Given the description of an element on the screen output the (x, y) to click on. 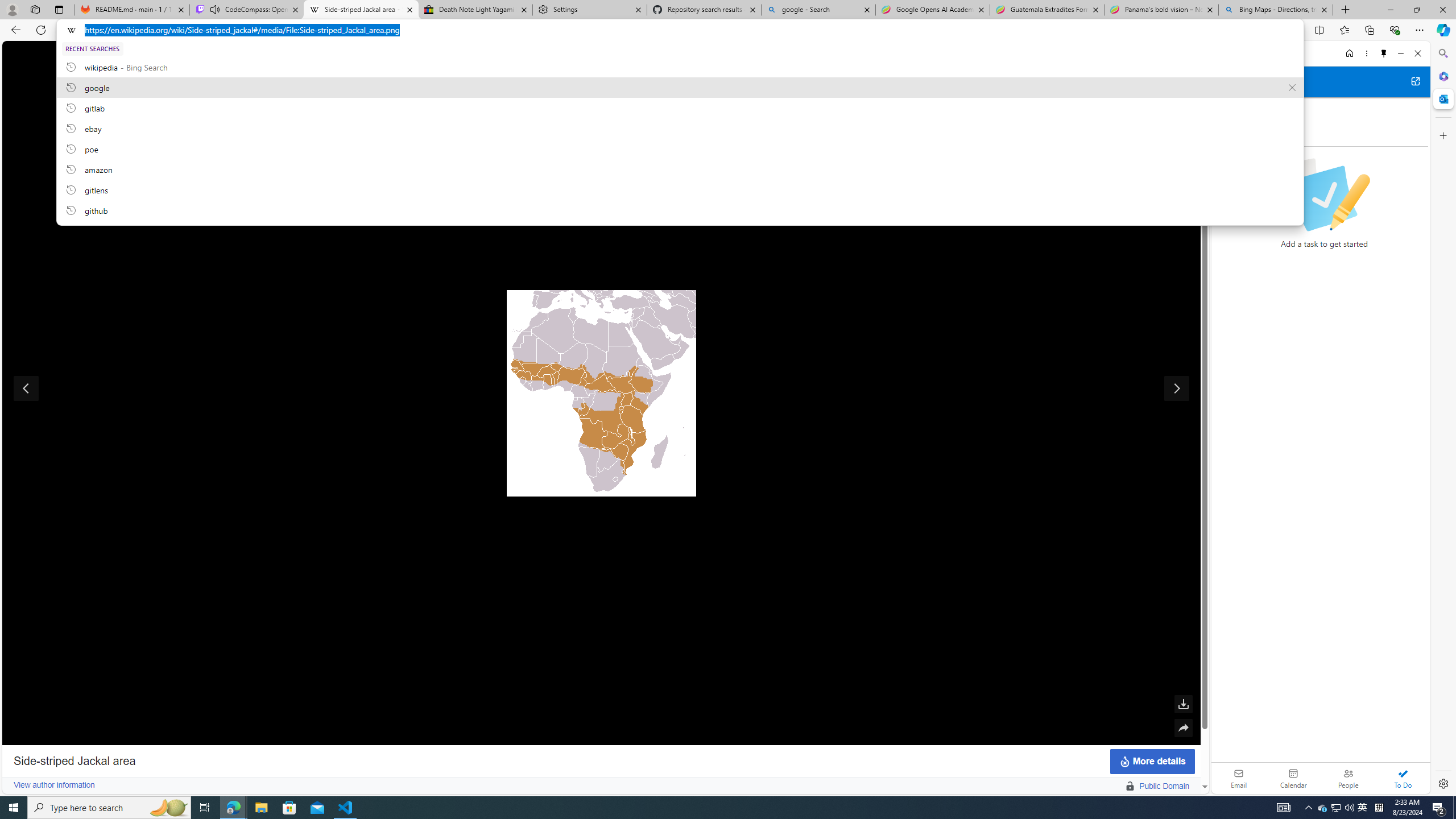
Download this file (1183, 704)
Google Opens AI Academy for Startups - Nearshore Americas (932, 9)
To Do (1402, 777)
  Public Domain (1124, 786)
